Given the description of an element on the screen output the (x, y) to click on. 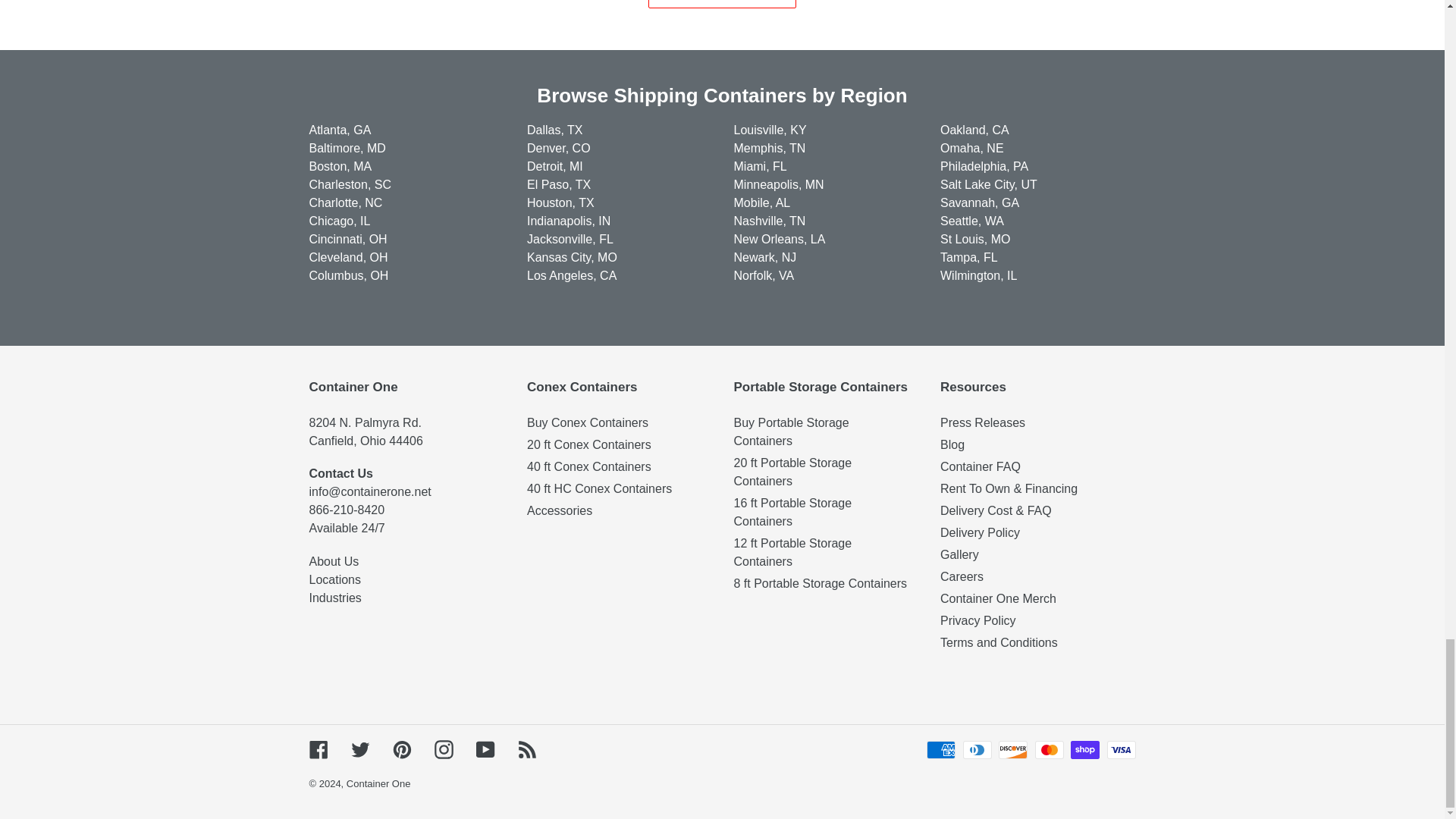
Buy Shipping Containers in Chicago, IL (339, 220)
Buy Shipping Containers in Charleston, SC (349, 184)
Buy Shipping Containers in Jacksonville, FL (569, 238)
Buy Shipping Containers in Indianapolis, IN (568, 220)
Buy Shipping Containers in Baltimore, Maryland (346, 147)
Buy Shipping Containers in Boston, Massachusetts (340, 165)
Buy Shipping Containers in Denver, CO (559, 147)
Buy Shipping Containers in Charlotte, NC (345, 202)
Buy Shipping Containers in Detroit, MI (555, 165)
Buy Shipping Containers in Columbus, OH (348, 275)
Buy Shipping Containers in El Paso, TX (559, 184)
Buy Shipping Containers in Cleveland, OH (348, 256)
Buy Shipping Containers in Atlanta, Georgia (339, 129)
Buy Shipping Containers in Cincinnati, OH (347, 238)
Buy Shipping Containers in Houston, TX (560, 202)
